Given the description of an element on the screen output the (x, y) to click on. 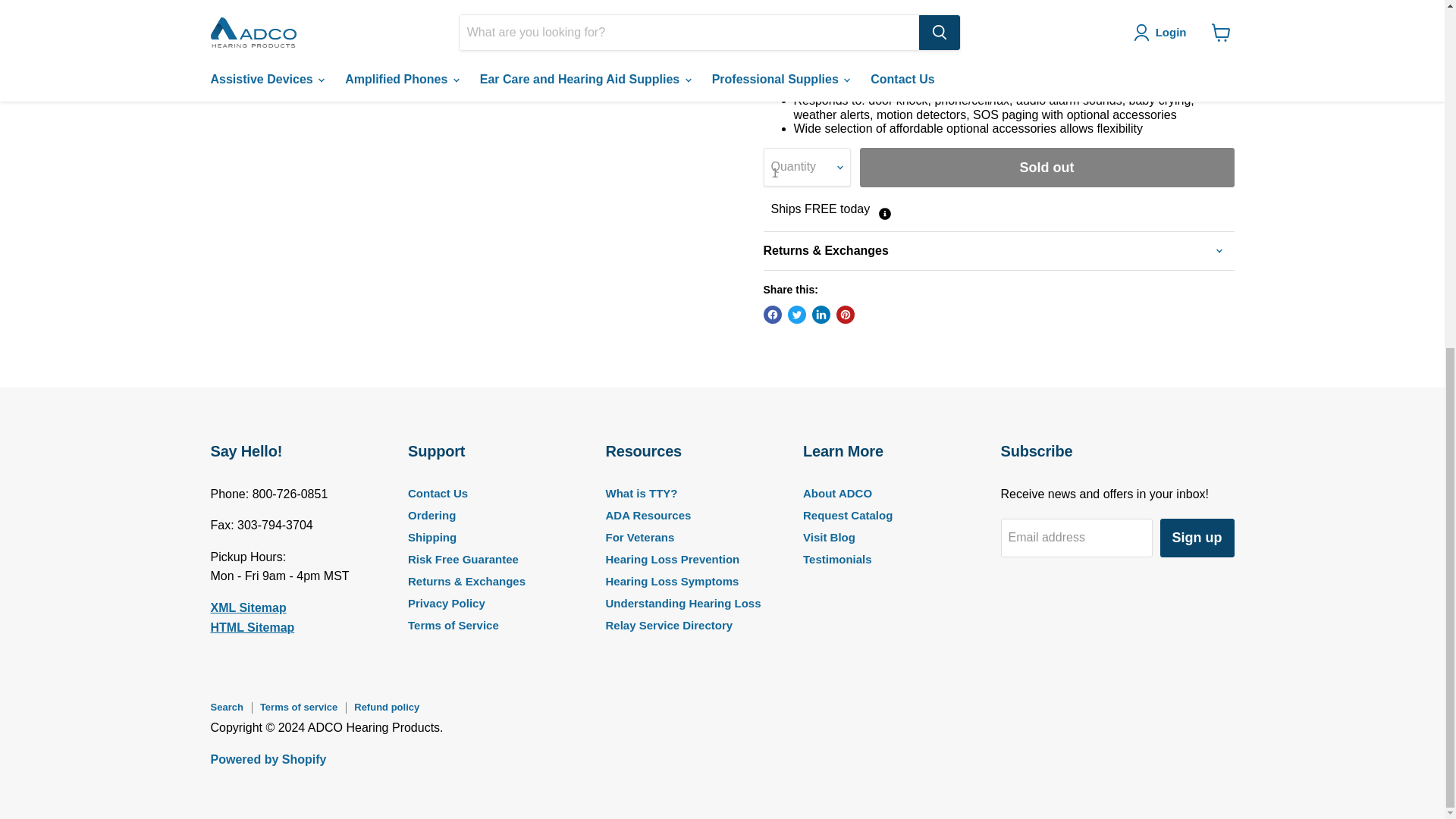
Resource Sitemap (248, 607)
HTML Sitemap (253, 626)
